Given the description of an element on the screen output the (x, y) to click on. 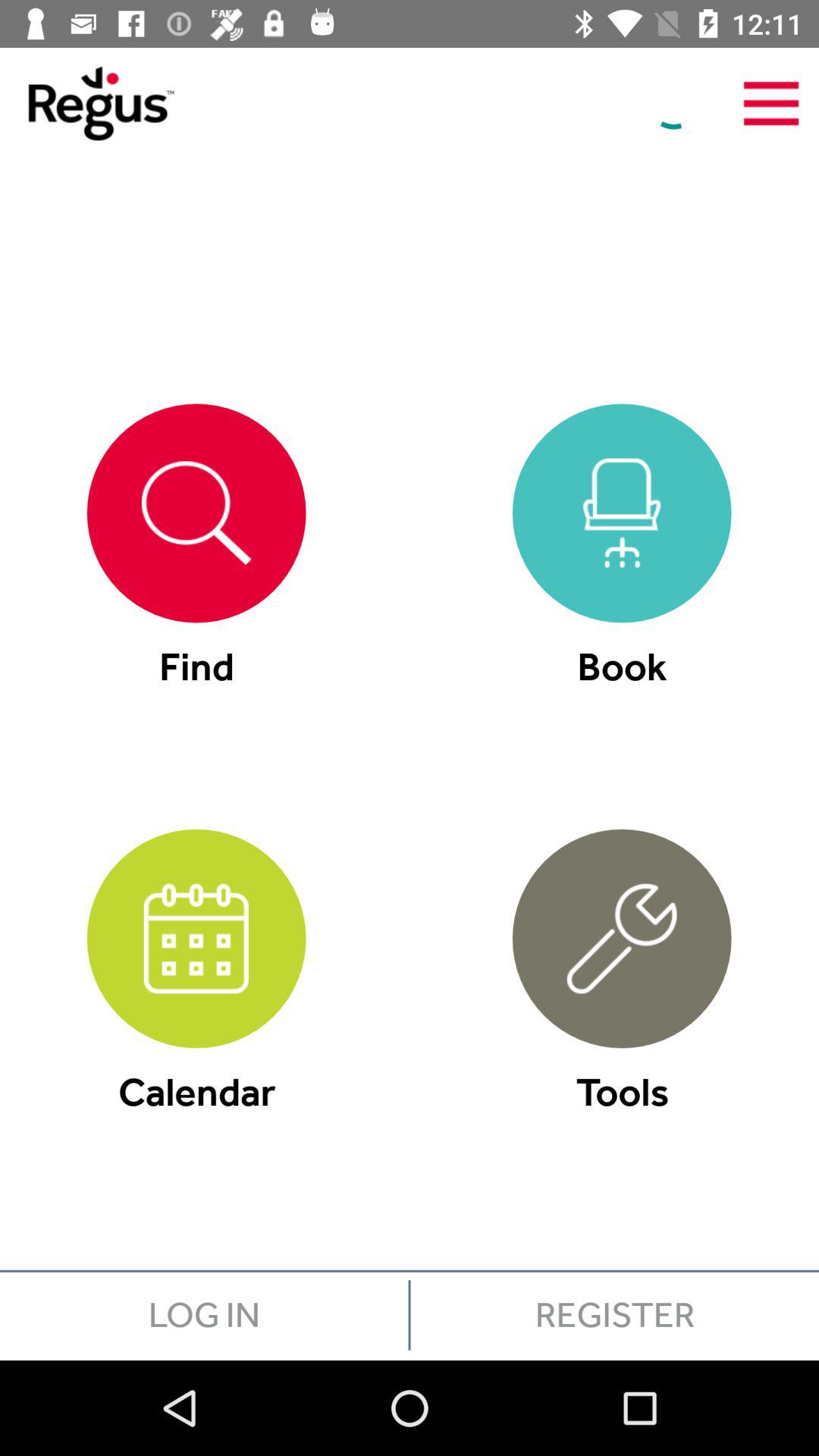
press the item below calendar (204, 1314)
